Given the description of an element on the screen output the (x, y) to click on. 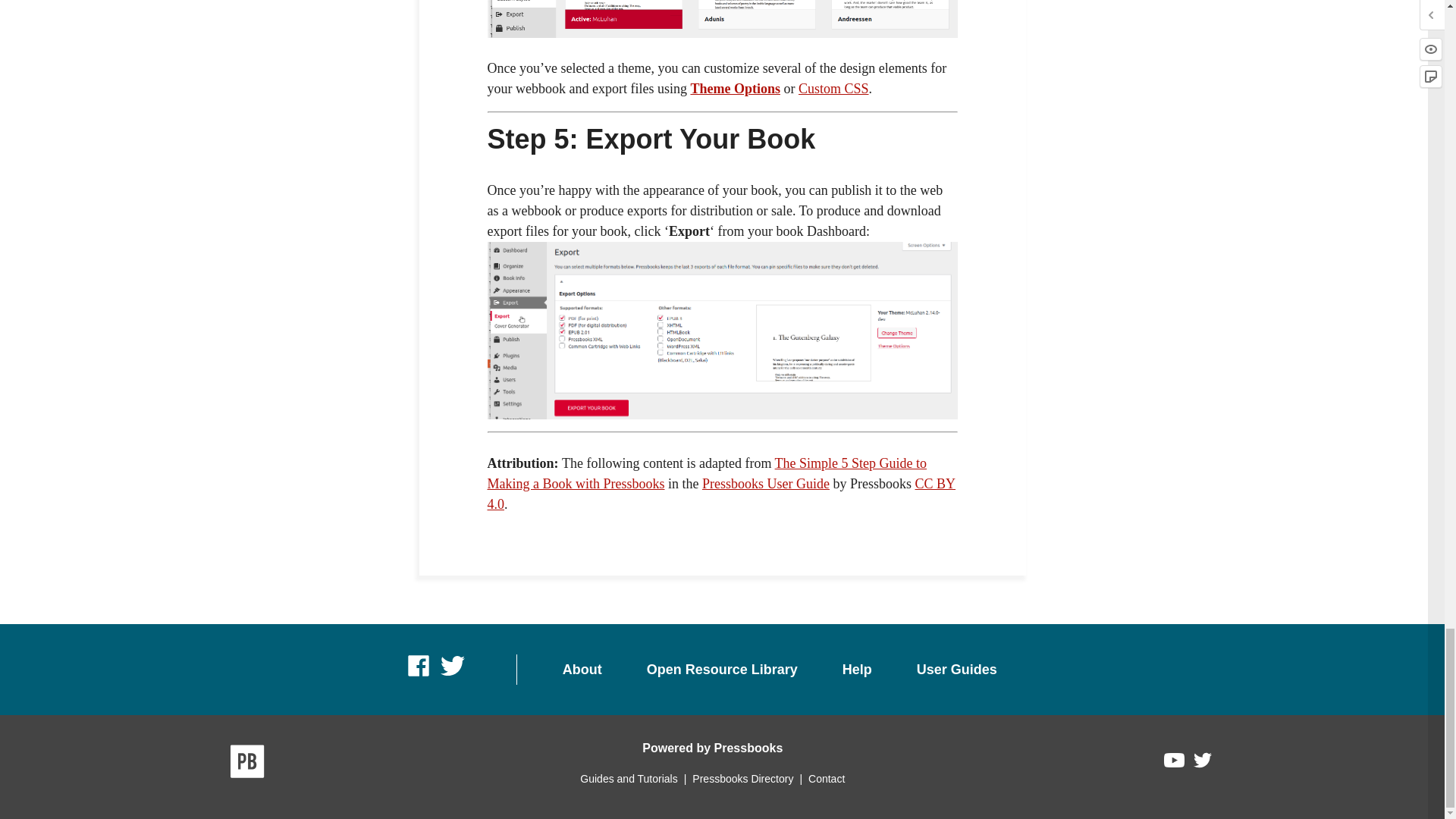
Open Resource Library (721, 669)
Custom CSS (833, 88)
Pressbooks User Guide (765, 483)
CC BY 4.0 (720, 493)
University of Central Florida Pressbooks on Twitter (452, 675)
University of Central Florida Pressbooks on Facebook (419, 675)
Contact (826, 778)
University of Central Florida Pressbooks on Twitter (452, 675)
User Guides (957, 669)
Pressbooks on YouTube (1174, 763)
About (582, 669)
Help (857, 669)
Pressbooks on YouTube (1174, 763)
Powered by Pressbooks (712, 748)
Pressbooks Directory (742, 778)
